Given the description of an element on the screen output the (x, y) to click on. 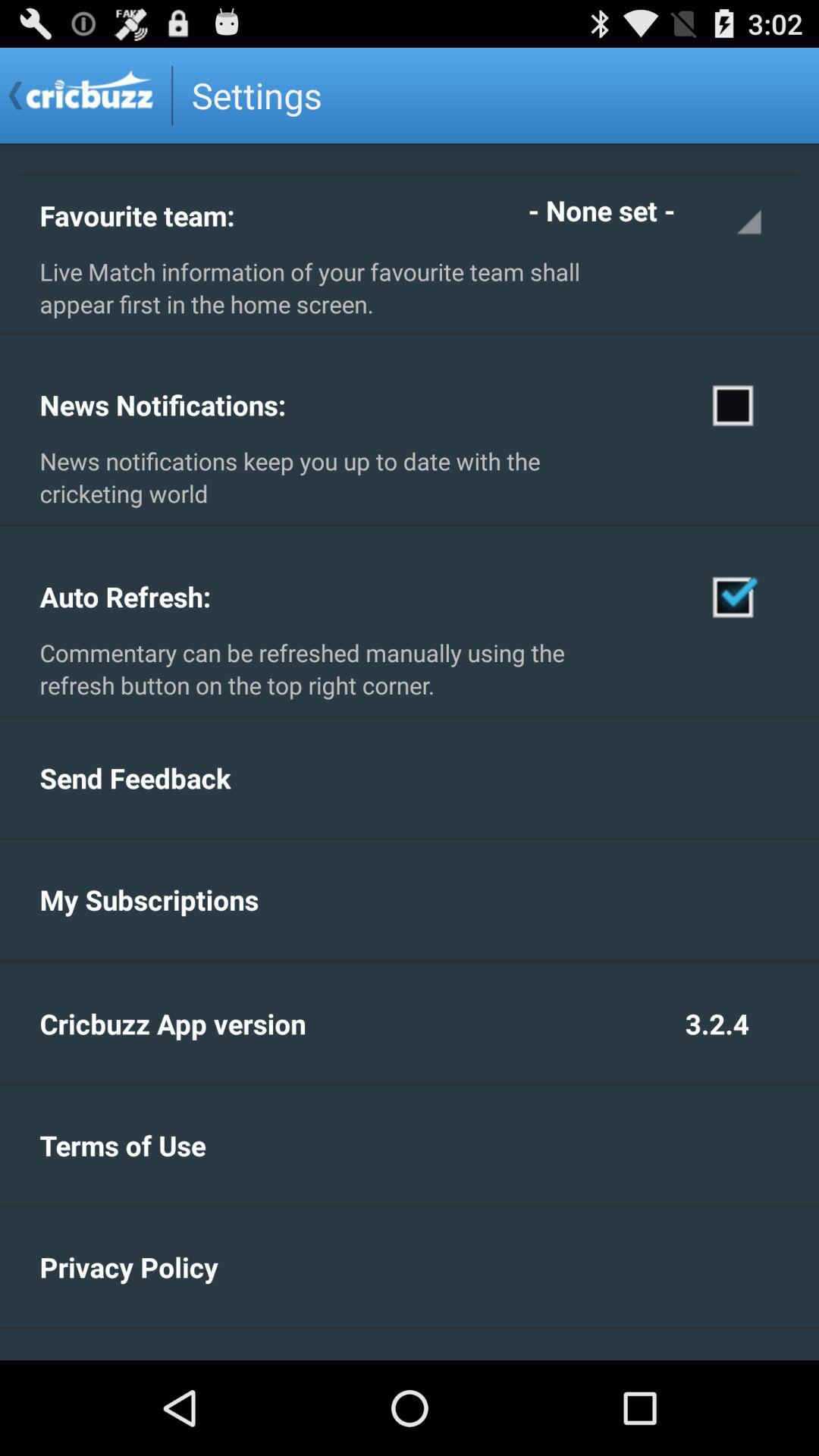
check auto refresh option (733, 596)
